Given the description of an element on the screen output the (x, y) to click on. 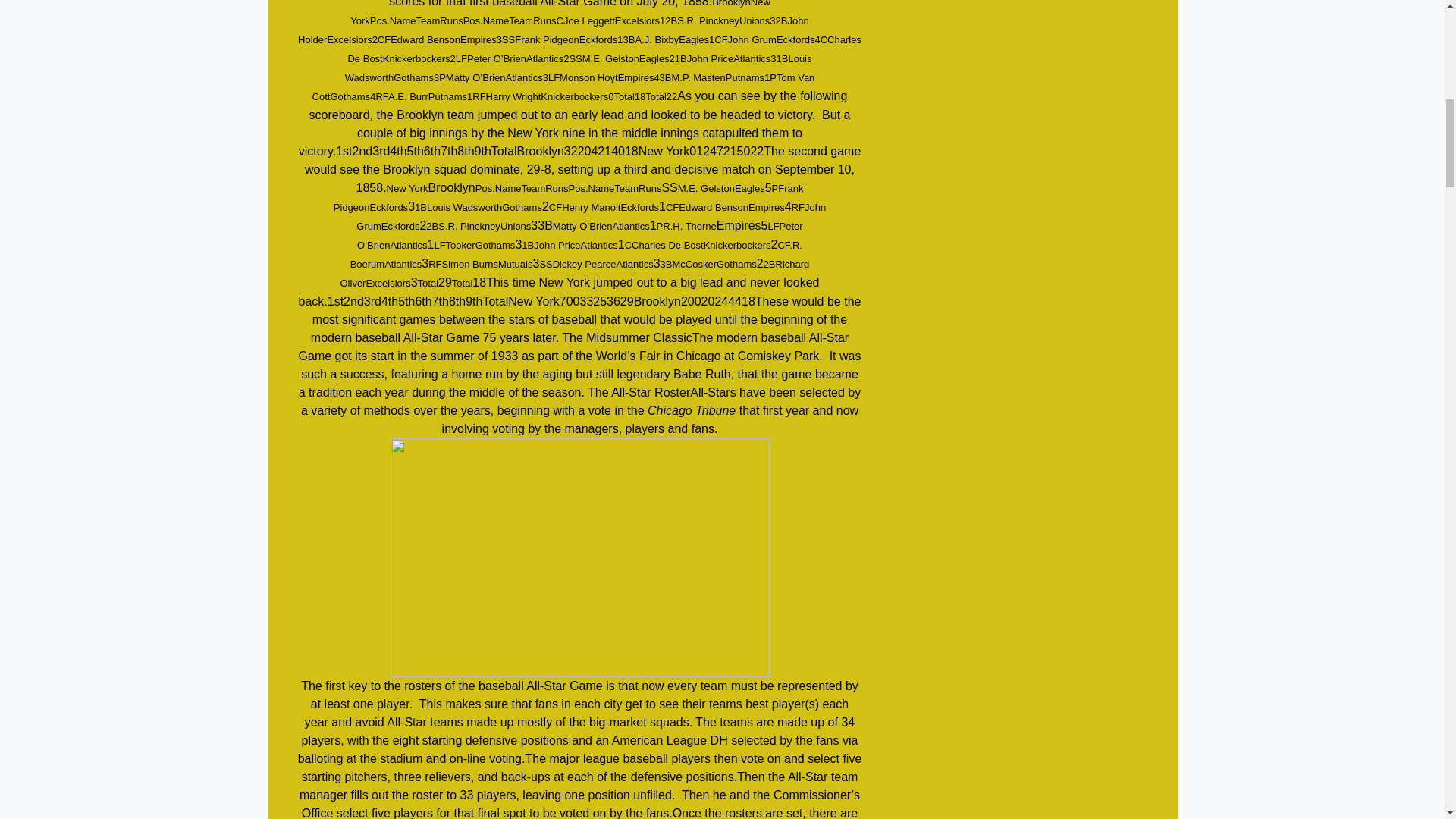
Scroll back to top (1406, 720)
